Given the description of an element on the screen output the (x, y) to click on. 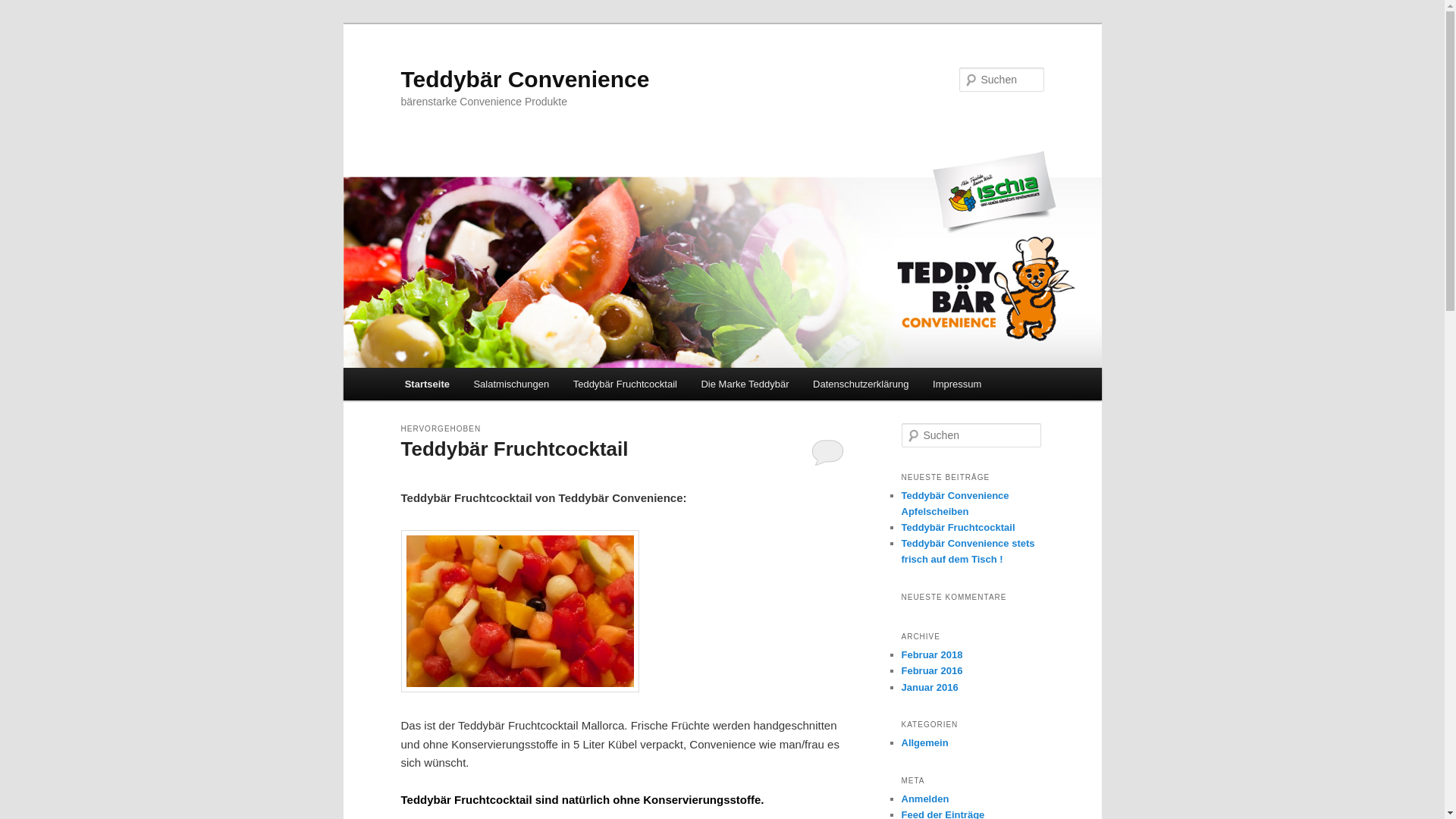
Startseite Element type: text (426, 383)
17. Februar 2016 Element type: text (506, 476)
Salatmischungen Element type: text (511, 383)
Anmelden Element type: text (924, 798)
Februar 2016 Element type: text (931, 670)
Zum Inhalt wechseln Element type: text (22, 22)
Suchen Element type: text (21, 10)
Suchen Element type: text (25, 8)
Allgemein Element type: text (923, 742)
admin Element type: text (575, 476)
Februar 2018 Element type: text (931, 654)
Impressum Element type: text (956, 383)
Januar 2016 Element type: text (928, 687)
